Given the description of an element on the screen output the (x, y) to click on. 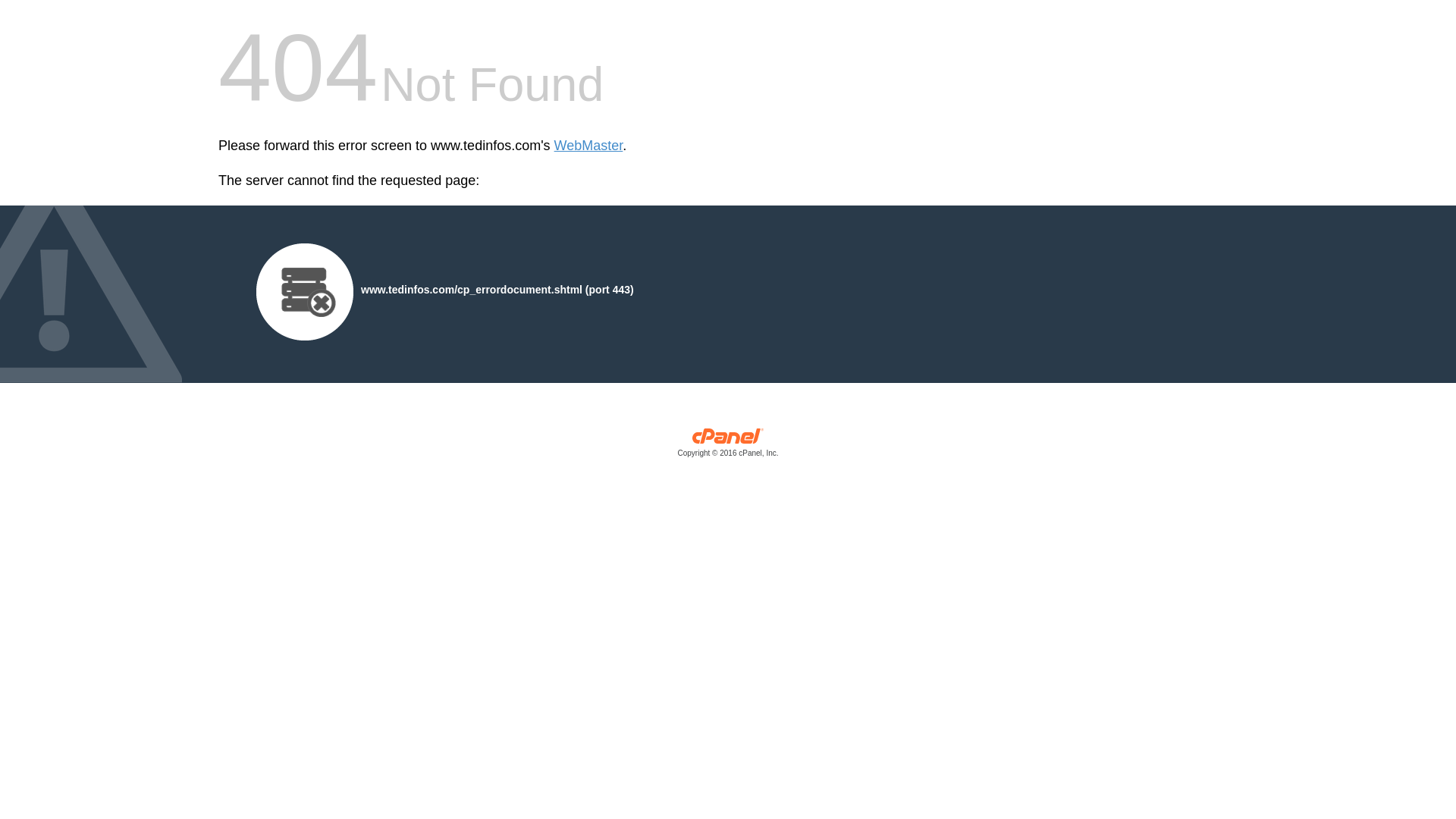
WebMaster (588, 145)
cPanel, Inc. (727, 446)
